Given the description of an element on the screen output the (x, y) to click on. 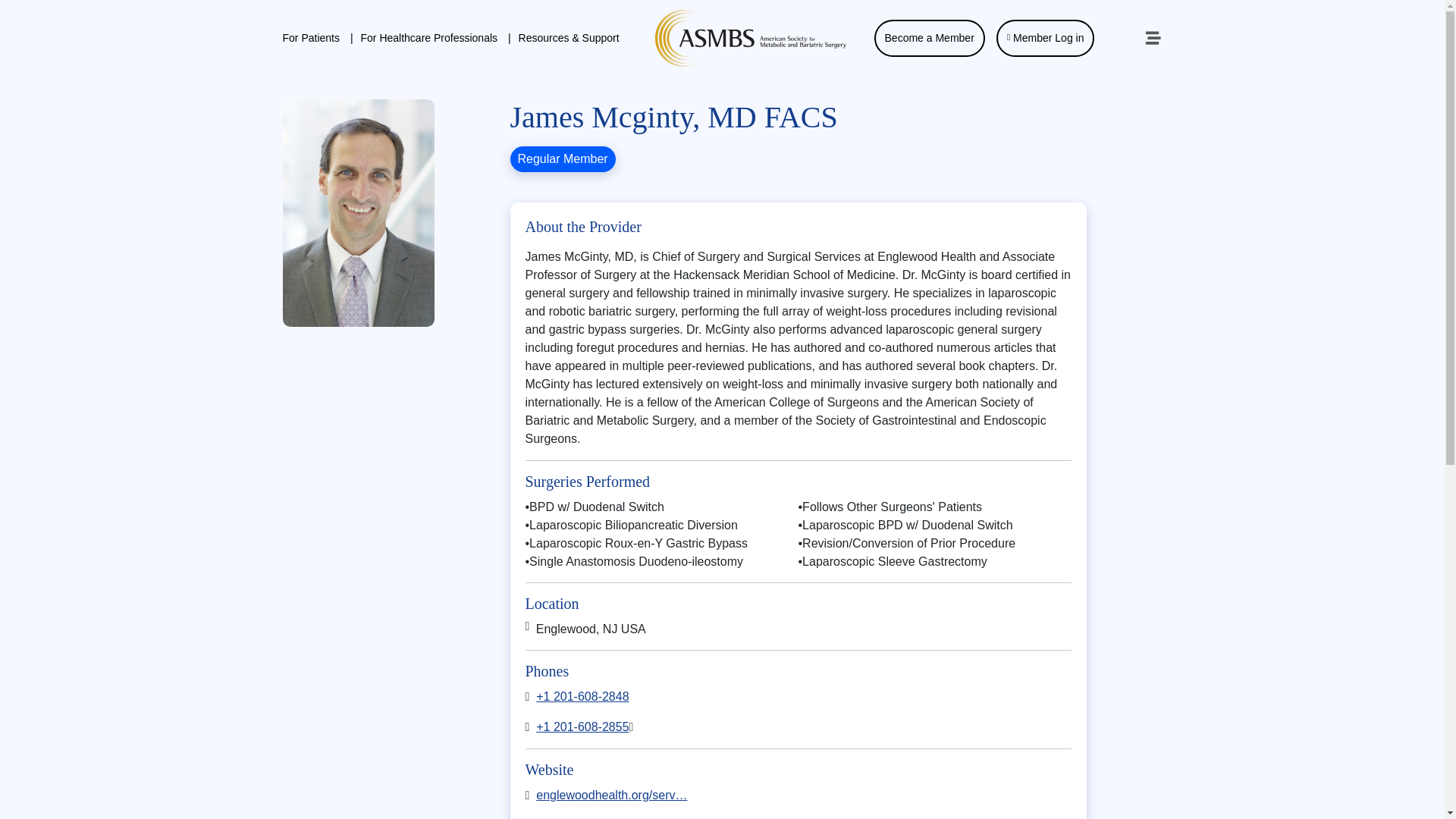
Become a Member (930, 37)
For Patients (317, 38)
search (1116, 38)
For Healthcare Professionals (432, 38)
search (1115, 38)
Member Log in (1044, 37)
